Given the description of an element on the screen output the (x, y) to click on. 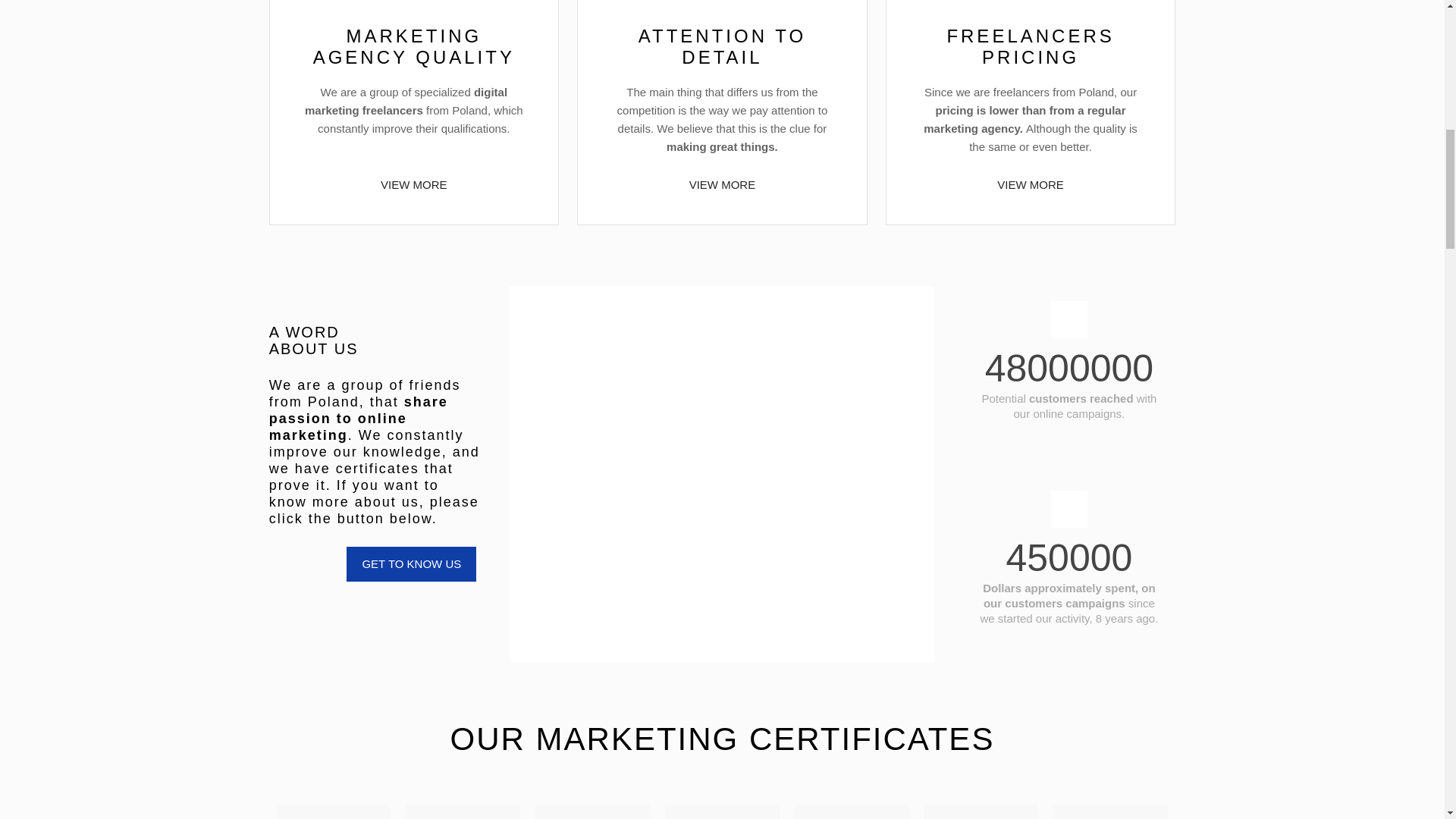
GET TO KNOW US (411, 564)
VIEW MORE (1030, 185)
VIEW MORE (413, 185)
VIEW MORE (722, 185)
